Given the description of an element on the screen output the (x, y) to click on. 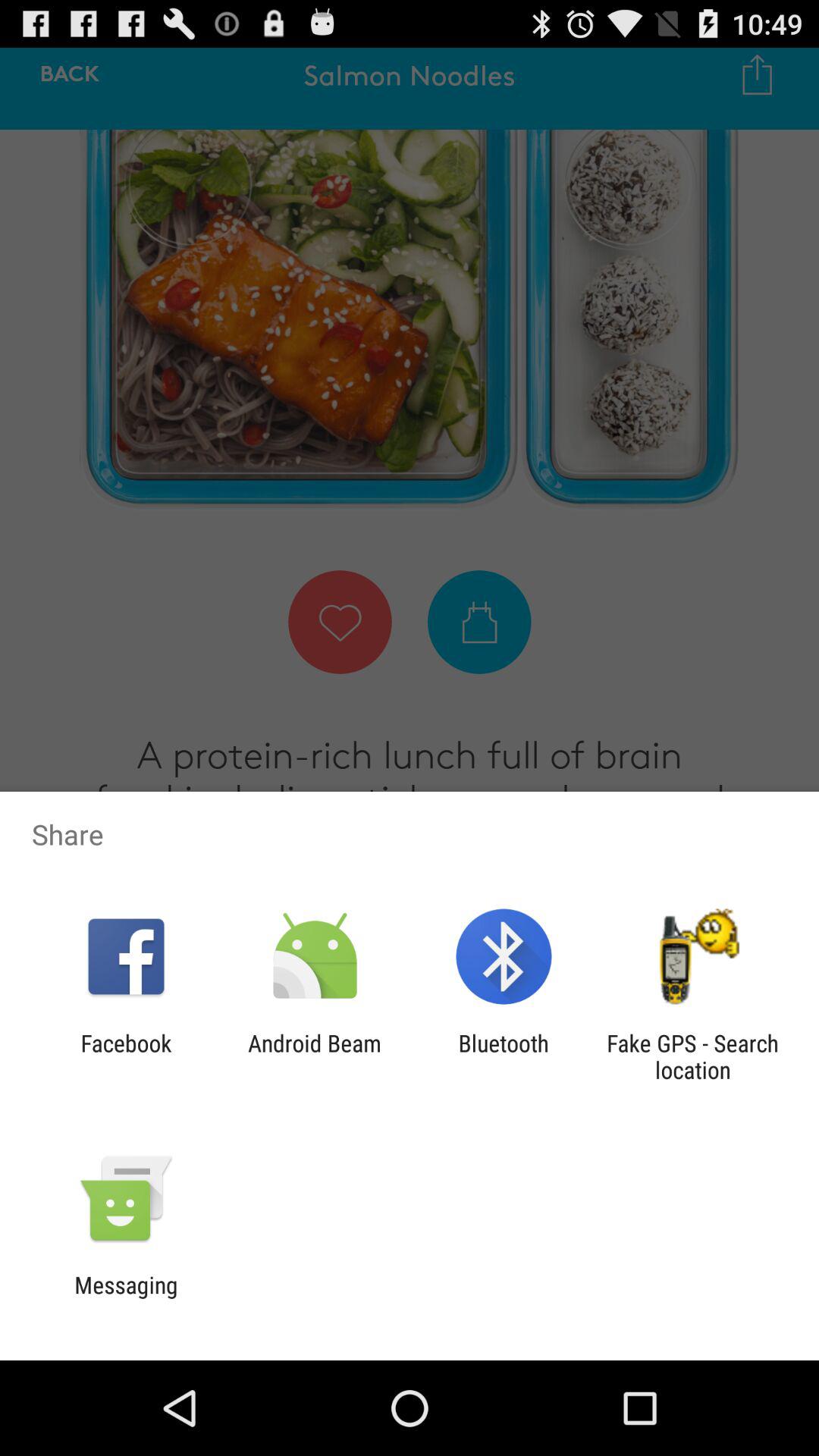
jump to messaging app (126, 1298)
